Given the description of an element on the screen output the (x, y) to click on. 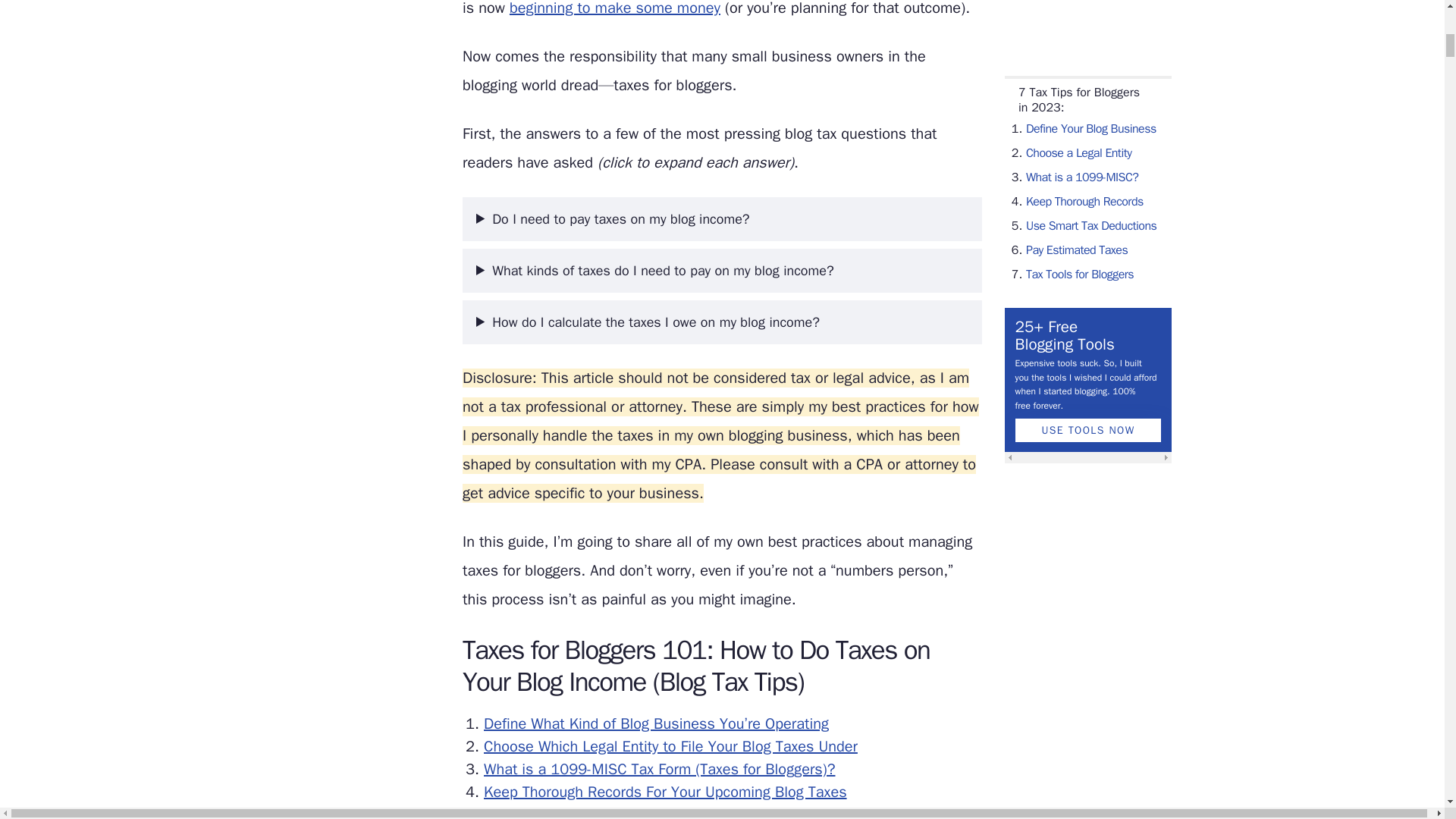
Use Tools Now (1087, 48)
USE TOOLS NOW (1087, 48)
beginning to make some money (614, 8)
beginning to make some money (614, 8)
